Given the description of an element on the screen output the (x, y) to click on. 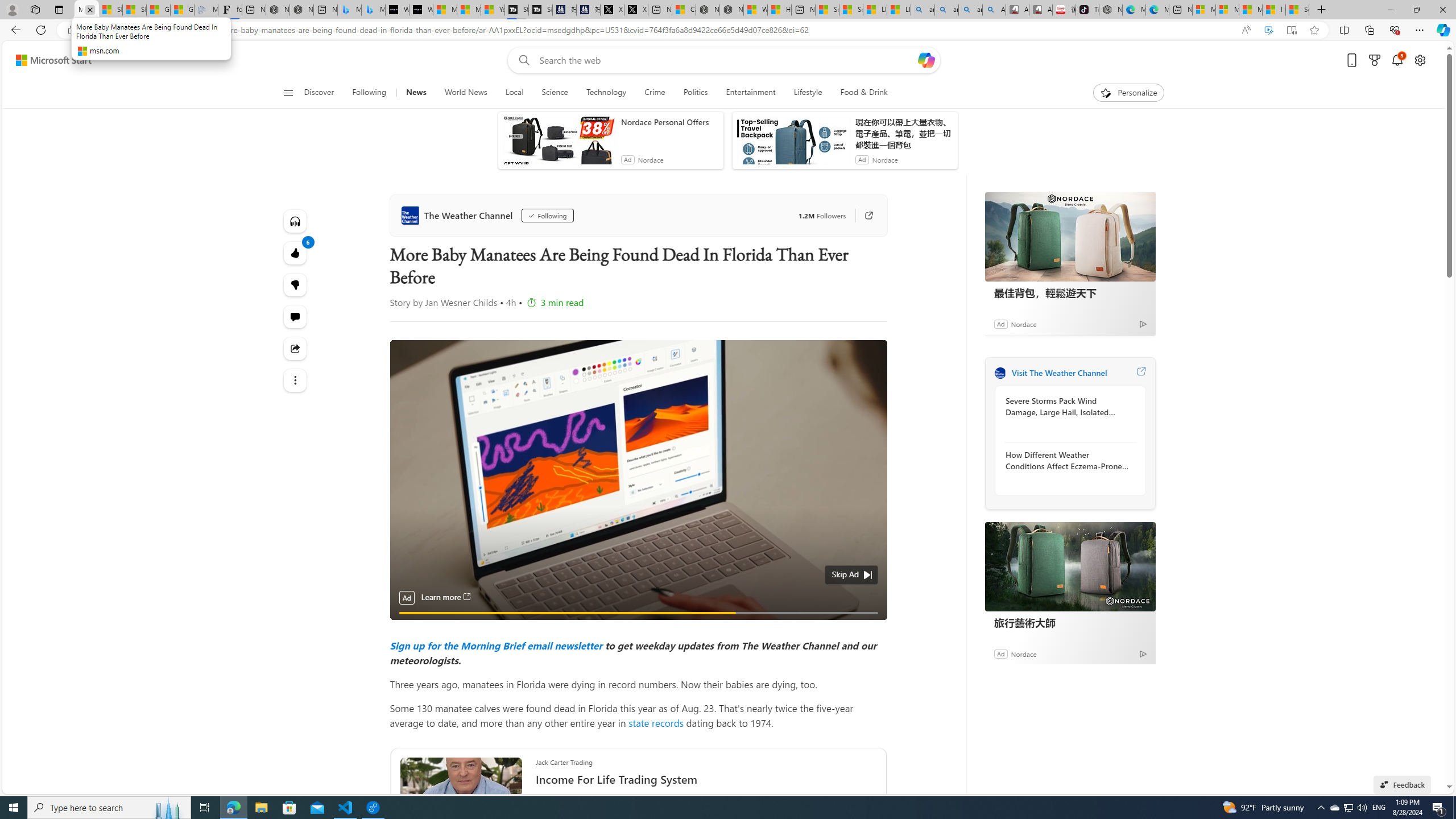
Minimize (1390, 9)
Visit The Weather Channel website (1140, 372)
Settings and more (Alt+F) (1419, 29)
Back (13, 29)
Add this page to favorites (Ctrl+D) (1314, 29)
Unmute (871, 626)
Feedback (1402, 784)
Technology (606, 92)
Huge shark washes ashore at New York City beach | Watch (779, 9)
World News (465, 92)
Tab actions menu (58, 9)
